Given the description of an element on the screen output the (x, y) to click on. 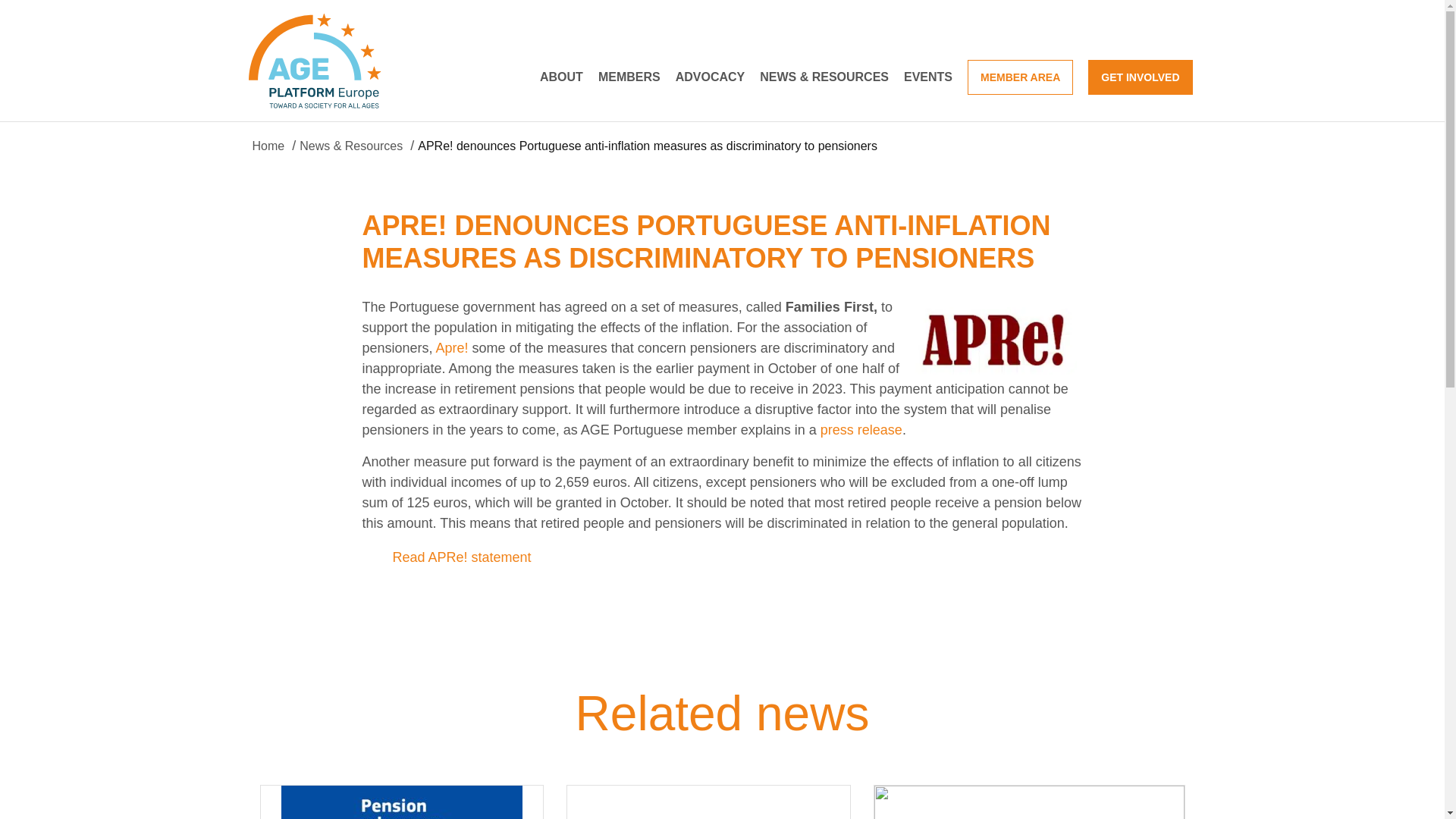
GET INVOLVED (1139, 76)
Apre! (451, 347)
press release (861, 429)
ADVOCACY (710, 76)
EVENTS (928, 76)
ABOUT (561, 76)
MEMBERS (629, 76)
Read APRe! statement (462, 557)
Home (267, 145)
MEMBER AREA (1020, 76)
